Given the description of an element on the screen output the (x, y) to click on. 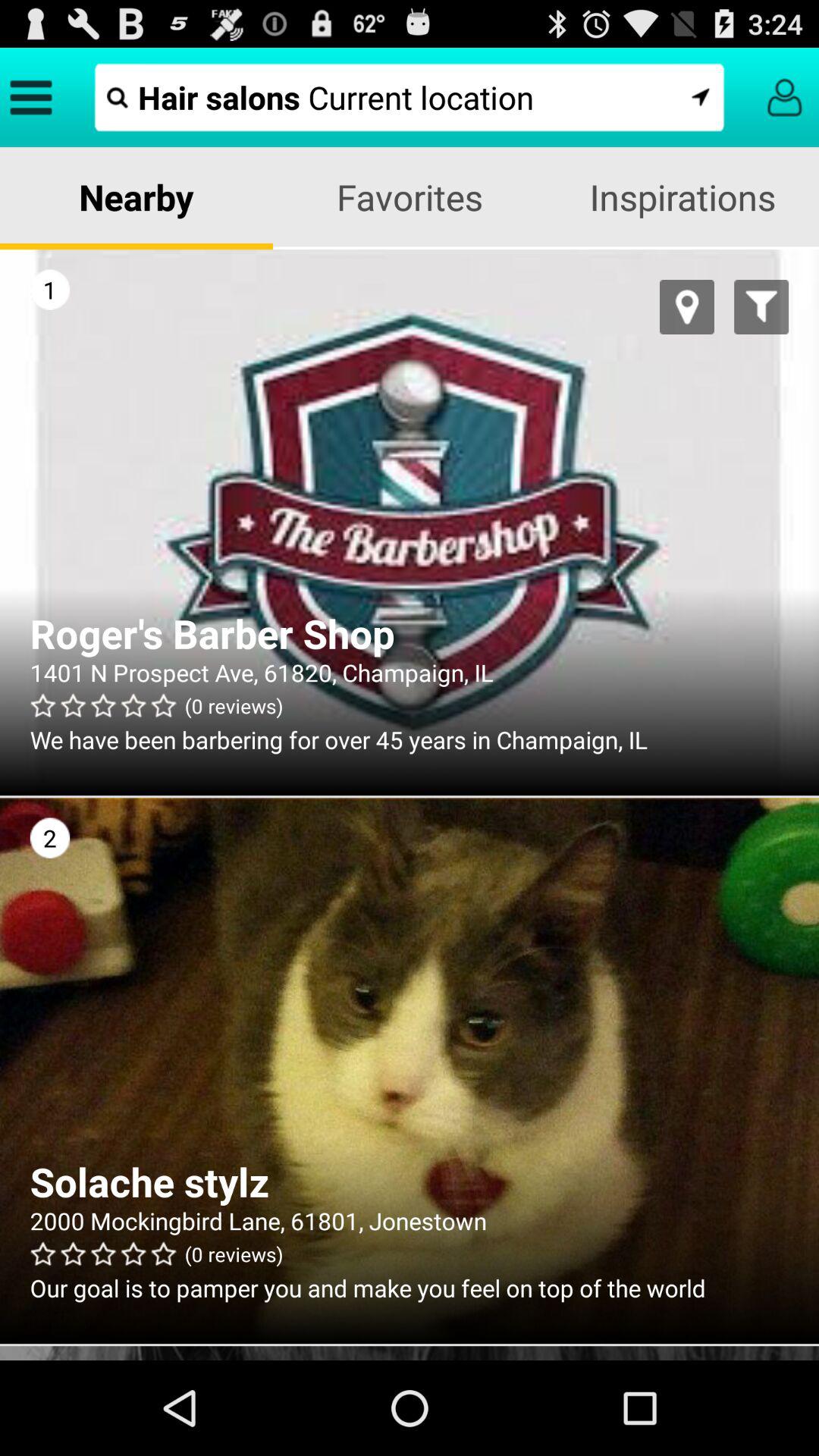
click icon next to inspirations icon (409, 196)
